Given the description of an element on the screen output the (x, y) to click on. 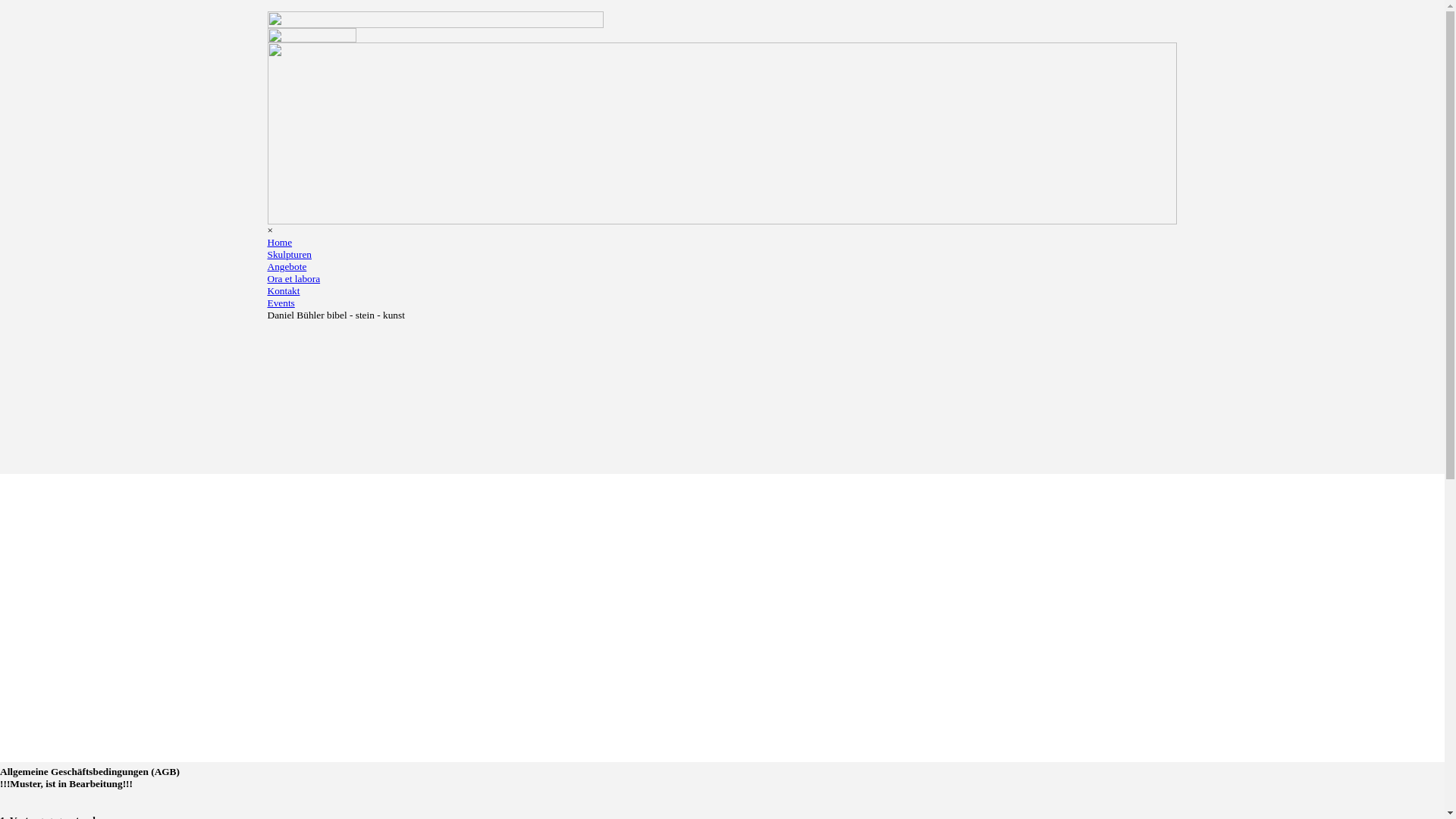
Events Element type: text (280, 302)
Home Element type: text (278, 241)
Skulpturen Element type: text (288, 254)
Kontakt Element type: text (282, 290)
Angebote Element type: text (286, 266)
Ora et labora Element type: text (293, 278)
